Given the description of an element on the screen output the (x, y) to click on. 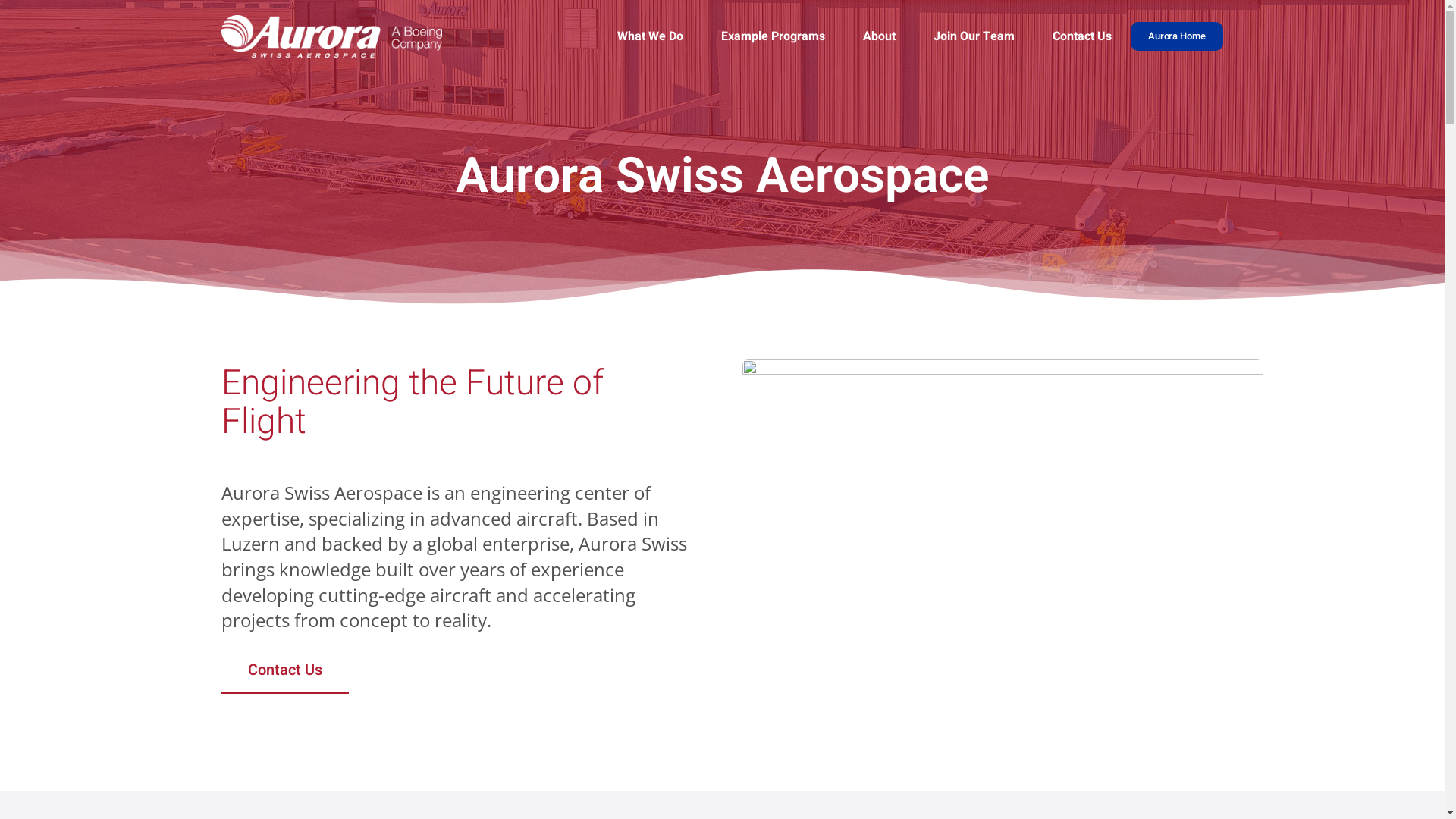
Contact Us Element type: text (284, 670)
About Element type: text (879, 36)
Join Our Team Element type: text (973, 36)
Aurora Home Element type: text (1176, 36)
What We Do Element type: text (650, 36)
Contact Us Element type: text (1081, 36)
Example Programs Element type: text (773, 36)
